Given the description of an element on the screen output the (x, y) to click on. 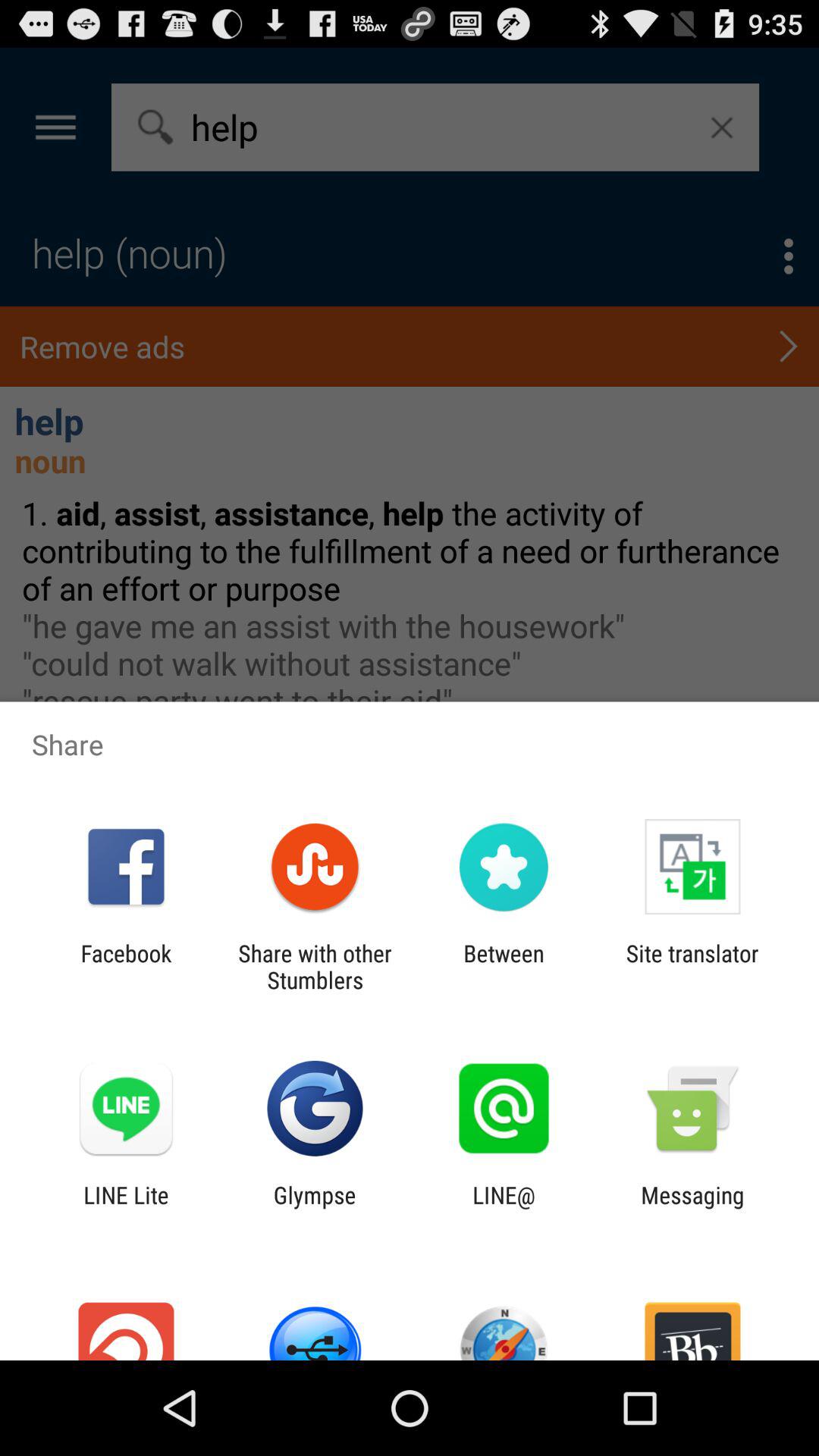
scroll to the messaging app (692, 1208)
